Given the description of an element on the screen output the (x, y) to click on. 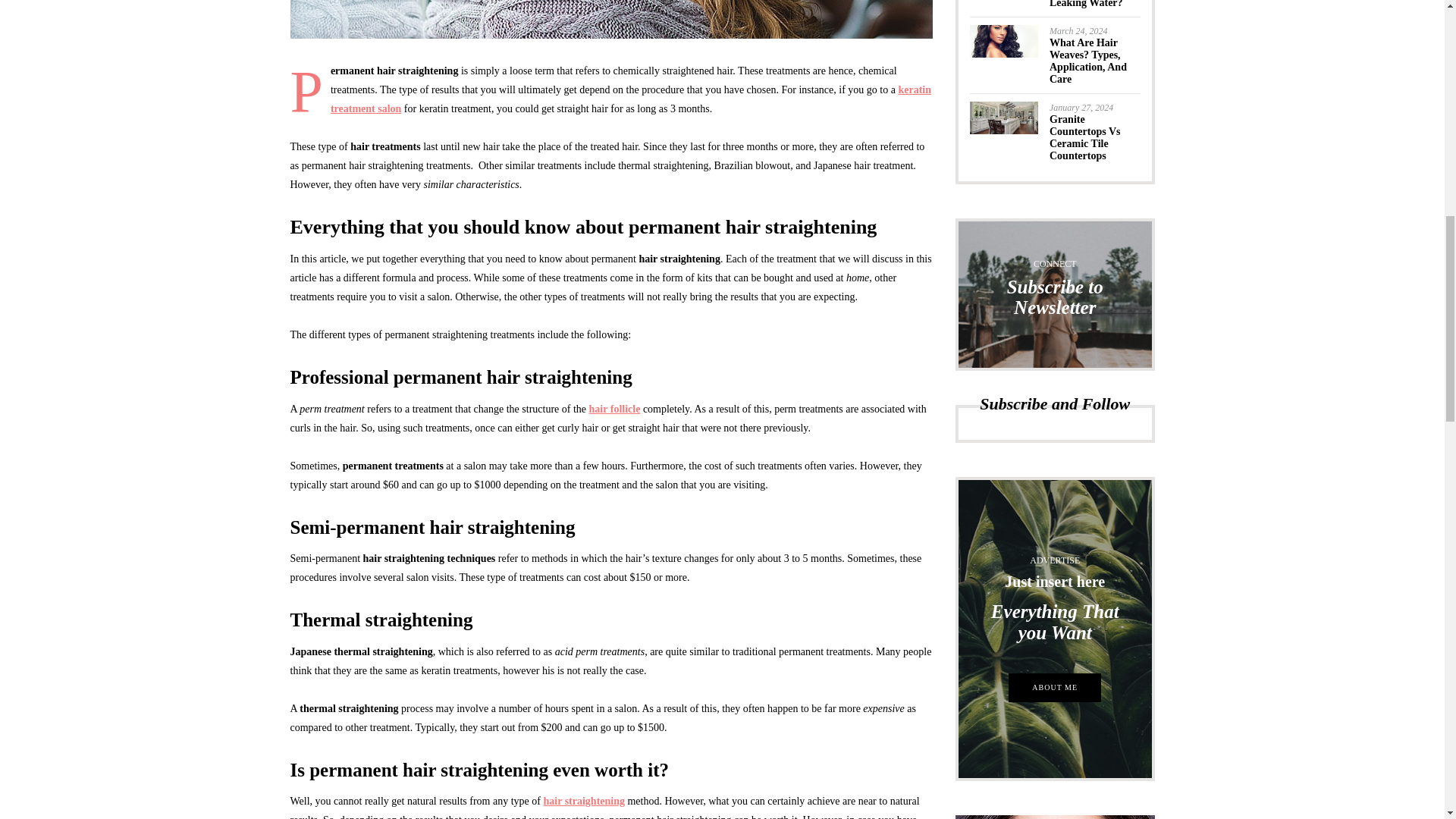
keratin treatment salon (630, 99)
